Given the description of an element on the screen output the (x, y) to click on. 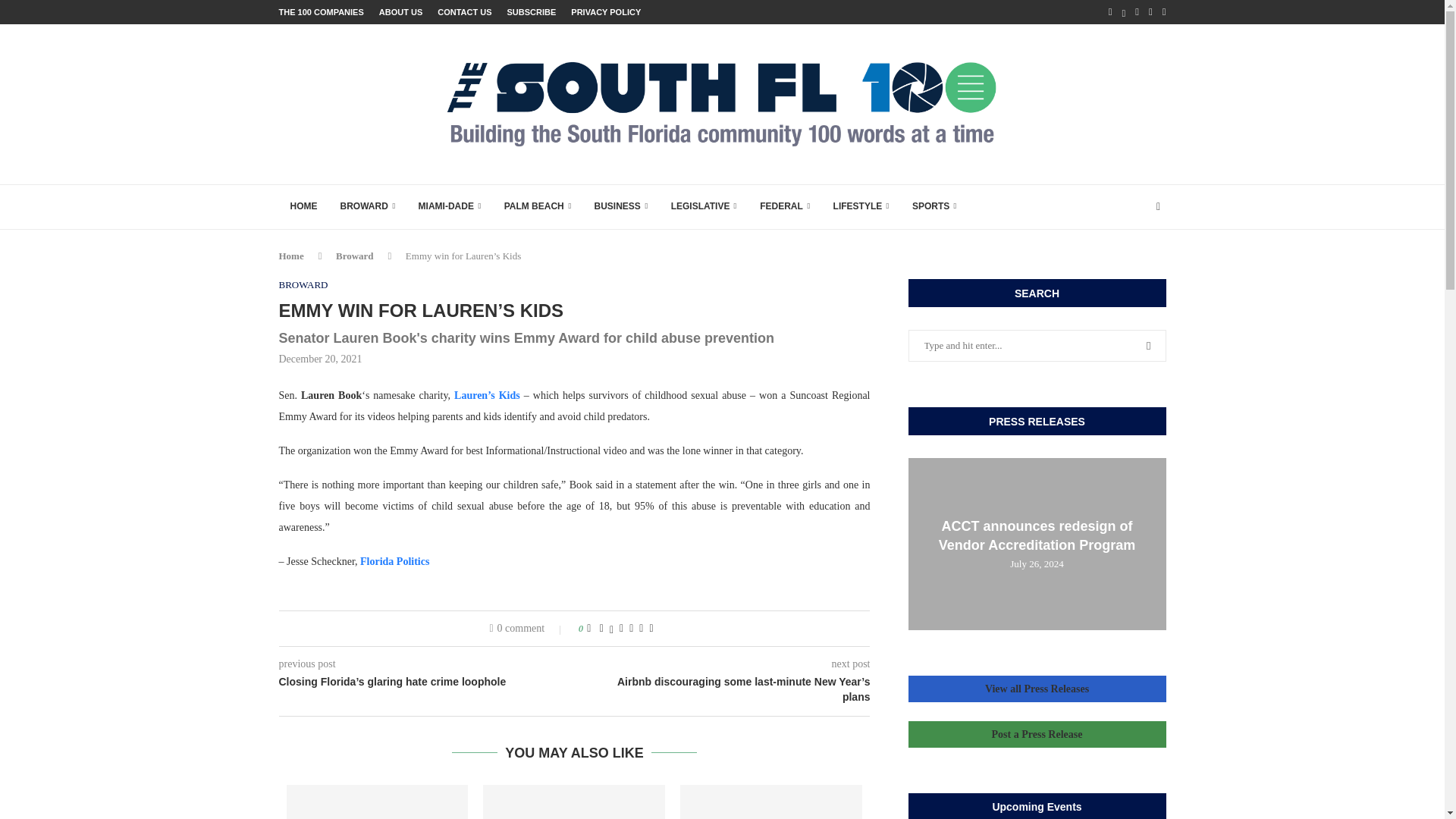
MIAMI-DADE (450, 207)
SUBSCRIBE (531, 12)
HOME (304, 207)
PRIVACY POLICY (605, 12)
CONTACT US (465, 12)
BROWARD (368, 207)
THE 100 COMPANIES (321, 12)
ABOUT US (400, 12)
